Given the description of an element on the screen output the (x, y) to click on. 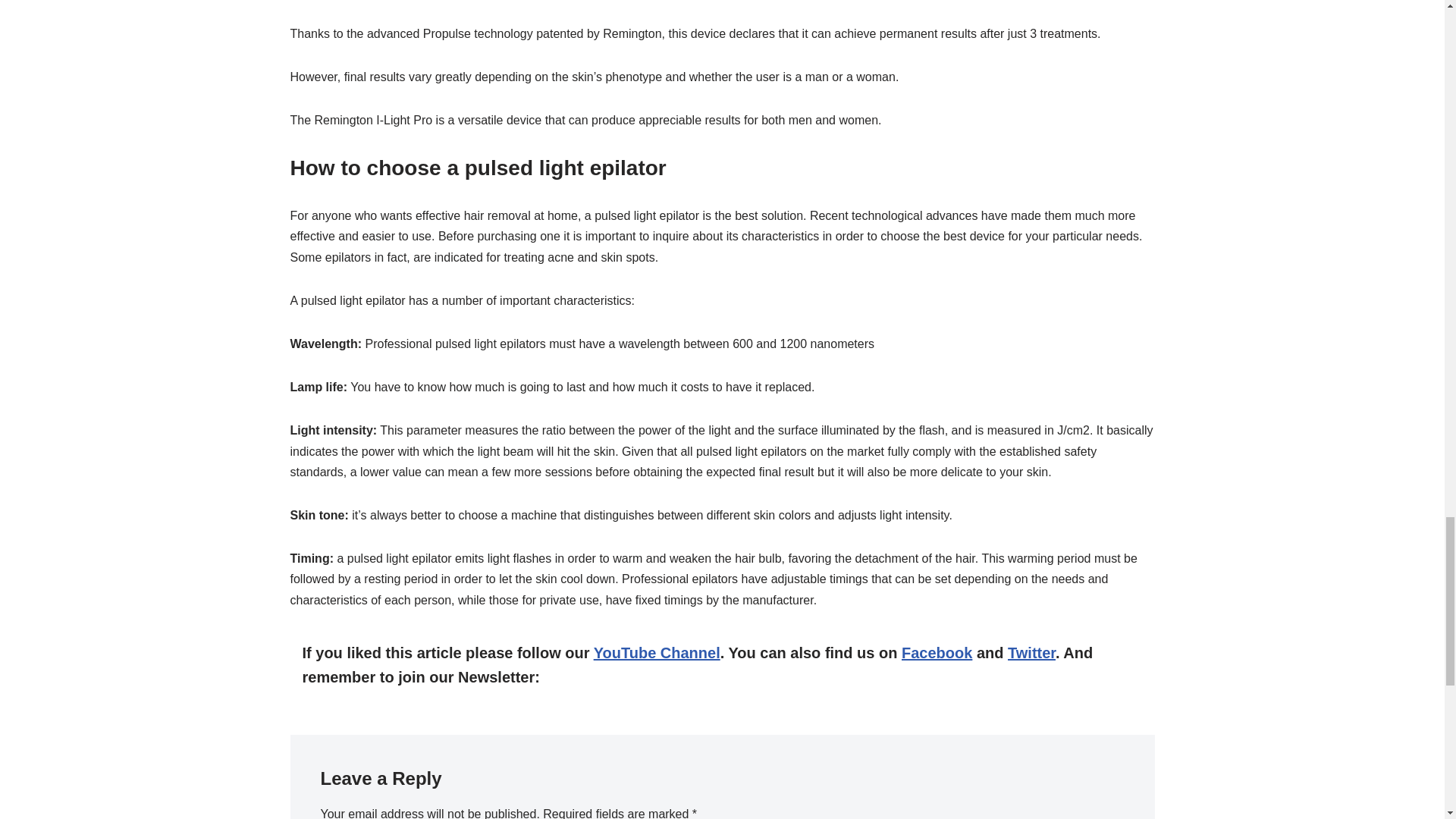
Twitter (1031, 652)
YouTube Channel (657, 652)
Facebook (936, 652)
